Given the description of an element on the screen output the (x, y) to click on. 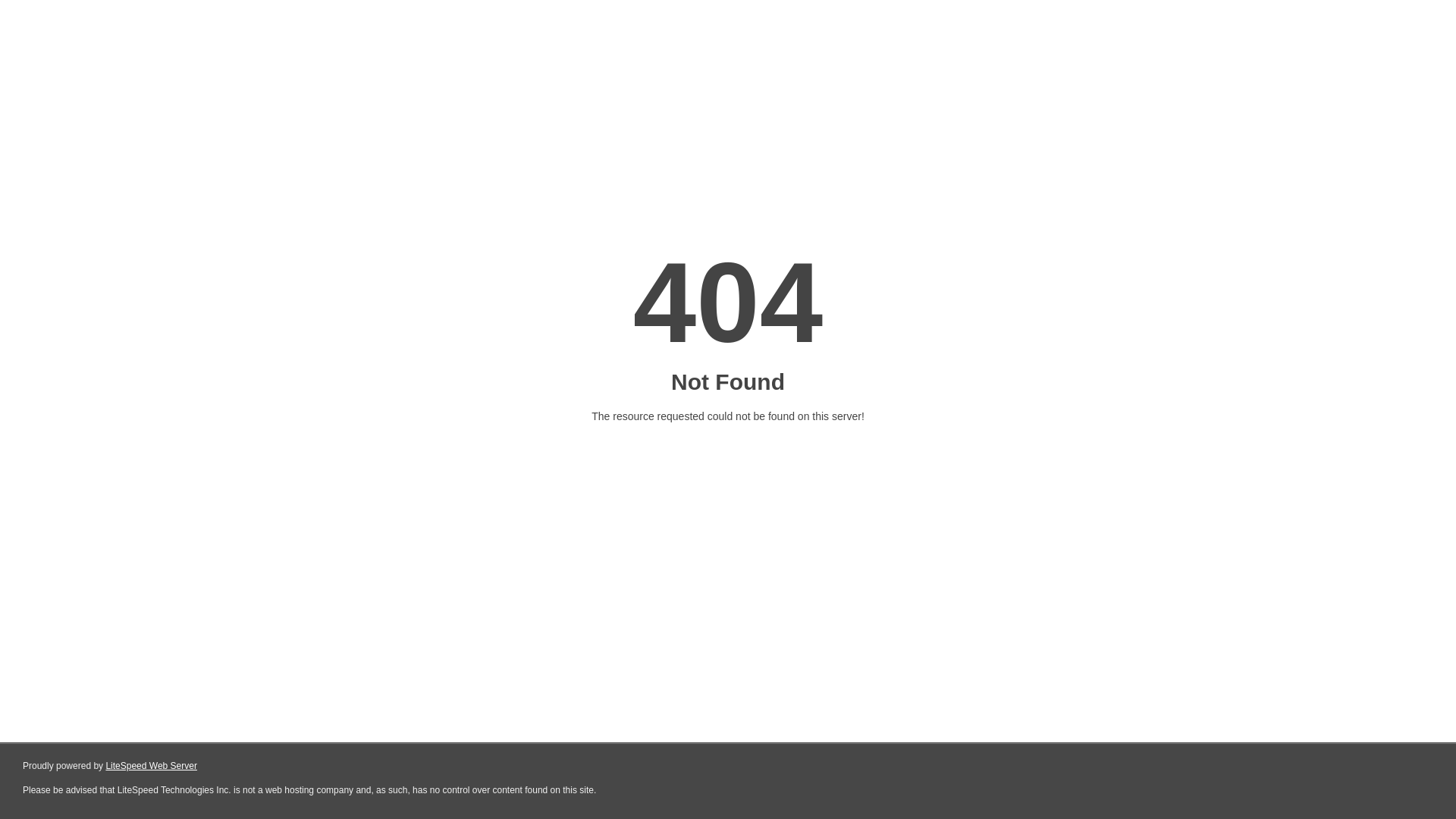
LiteSpeed Web Server Element type: text (151, 765)
